Given the description of an element on the screen output the (x, y) to click on. 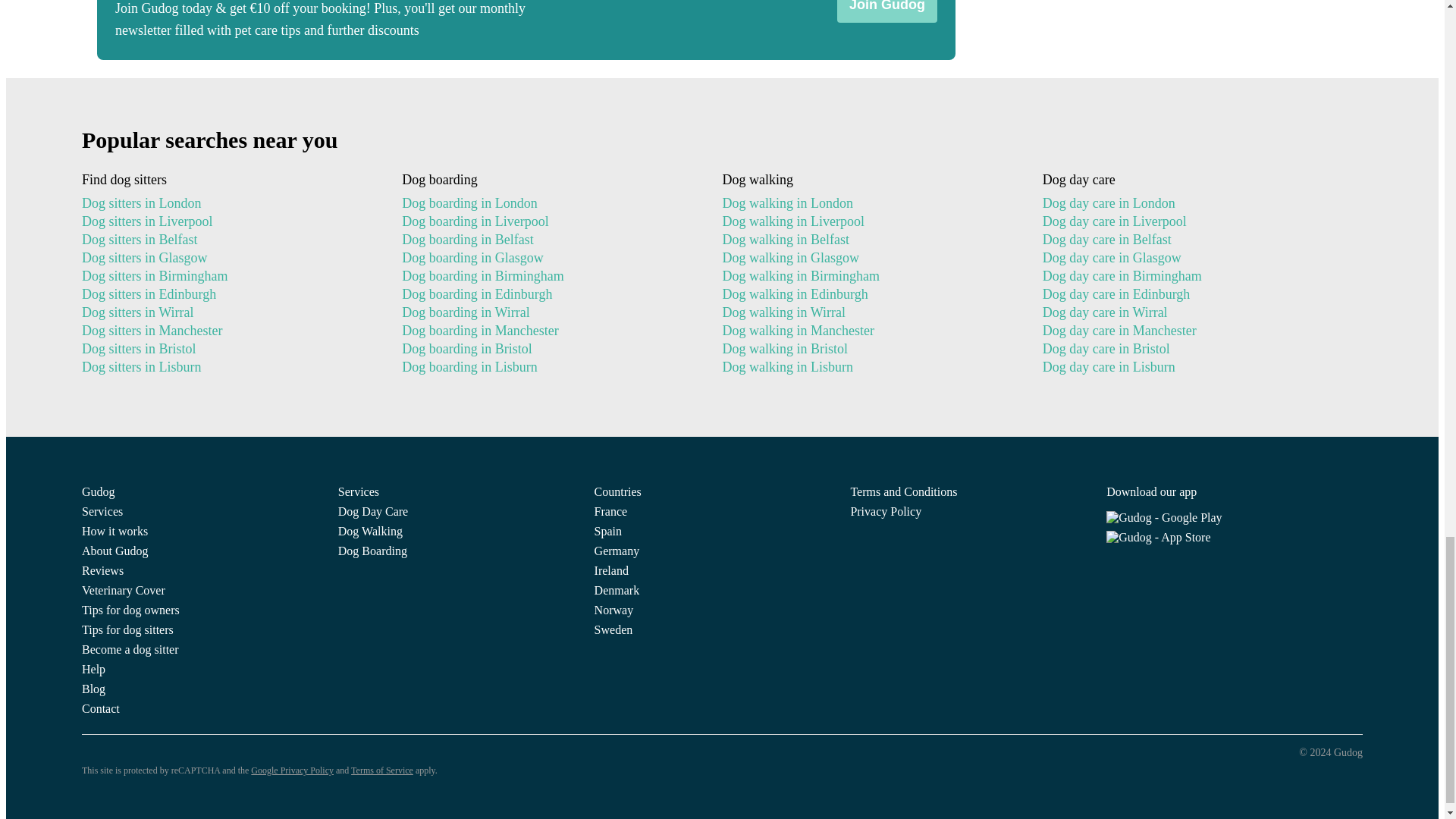
Dog boarding in Belfast (549, 239)
Join Gudog (887, 11)
Dog boarding in Glasgow (549, 257)
Dog boarding in London (549, 203)
Dog sitters in Belfast (229, 239)
Dog sitters in Bristol (229, 348)
Dog sitters in Birmingham (229, 275)
Dog sitters in Wirral (229, 312)
Dog sitters in Lisburn (229, 366)
Dog sitters in Edinburgh (229, 294)
